Given the description of an element on the screen output the (x, y) to click on. 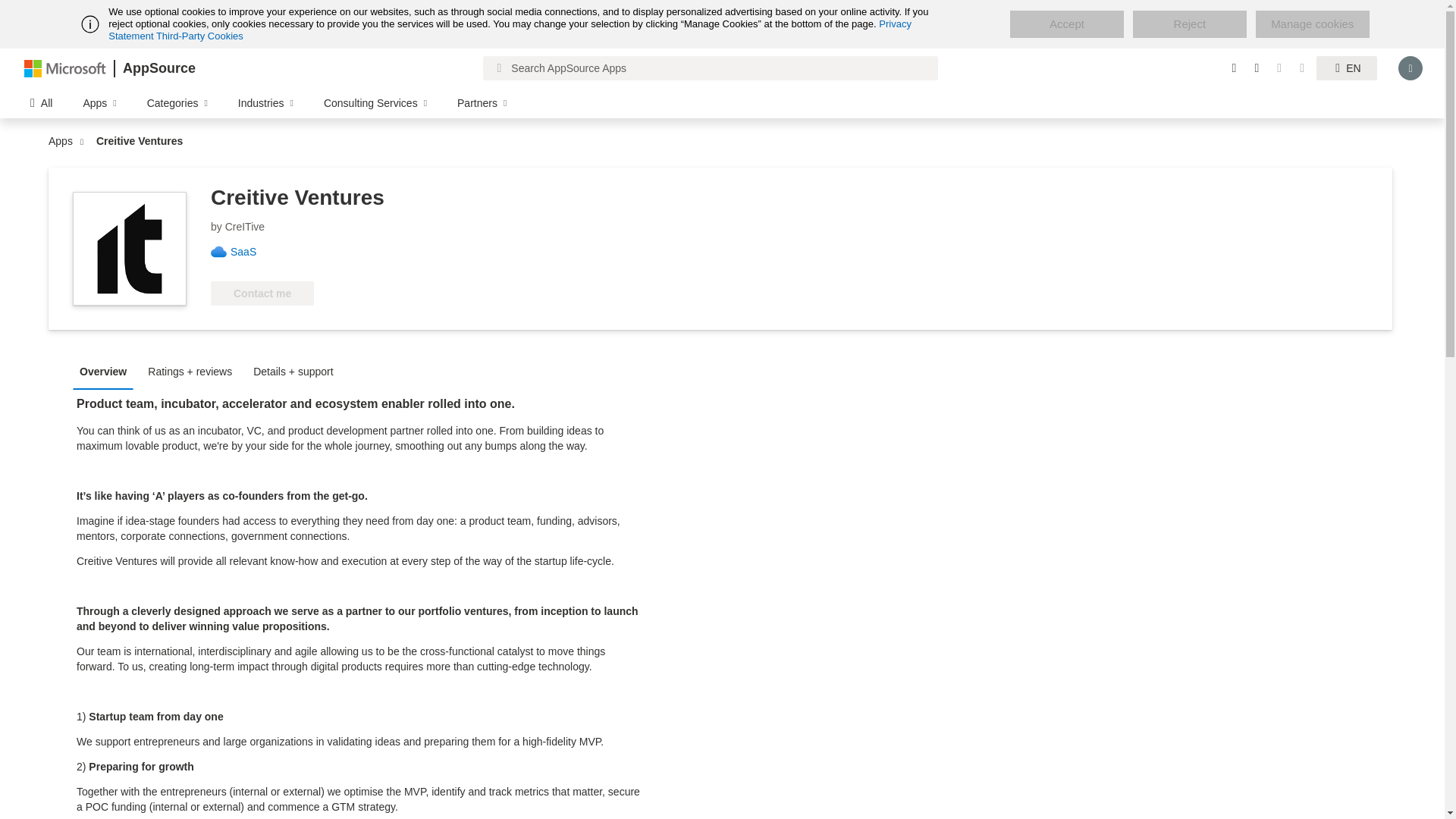
Third-Party Cookies (199, 35)
AppSource (158, 67)
Manage cookies (1312, 23)
SaaS (248, 251)
Overview (106, 370)
Privacy Statement (509, 29)
Contact me (262, 293)
SaaS (248, 251)
Accept (1067, 23)
Microsoft (65, 67)
Reject (1189, 23)
Apps (64, 141)
